Given the description of an element on the screen output the (x, y) to click on. 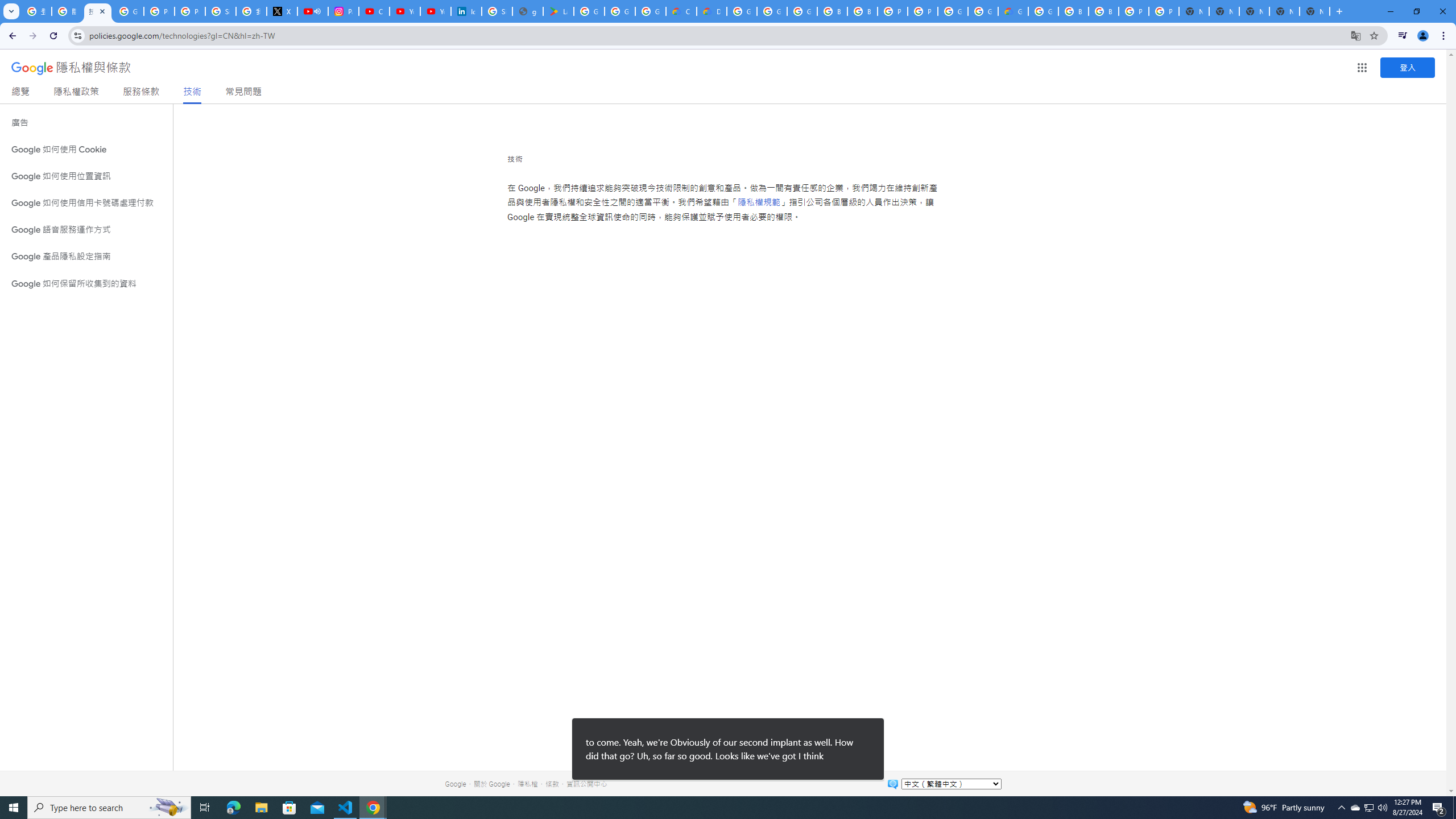
Customer Care | Google Cloud (681, 11)
X (282, 11)
